Given the description of an element on the screen output the (x, y) to click on. 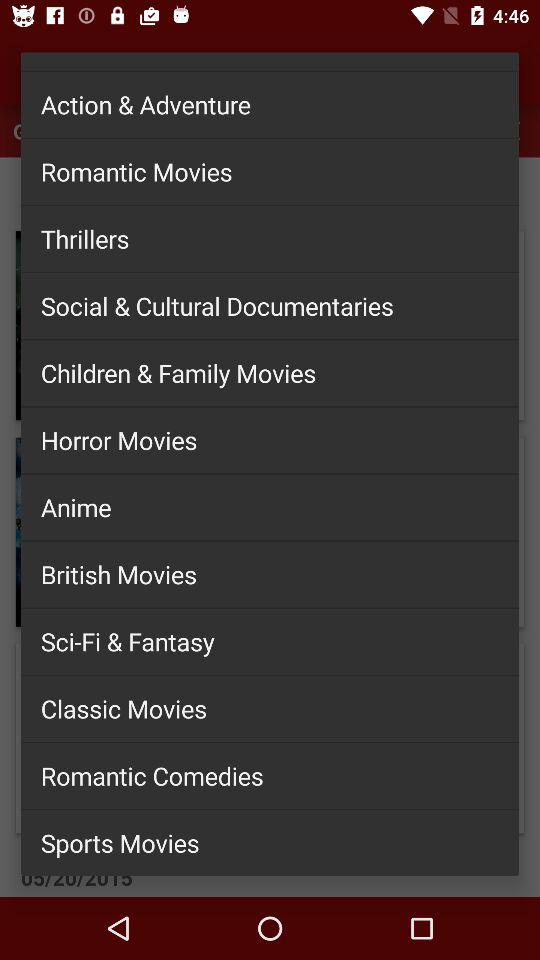
launch the    anime icon (269, 507)
